Given the description of an element on the screen output the (x, y) to click on. 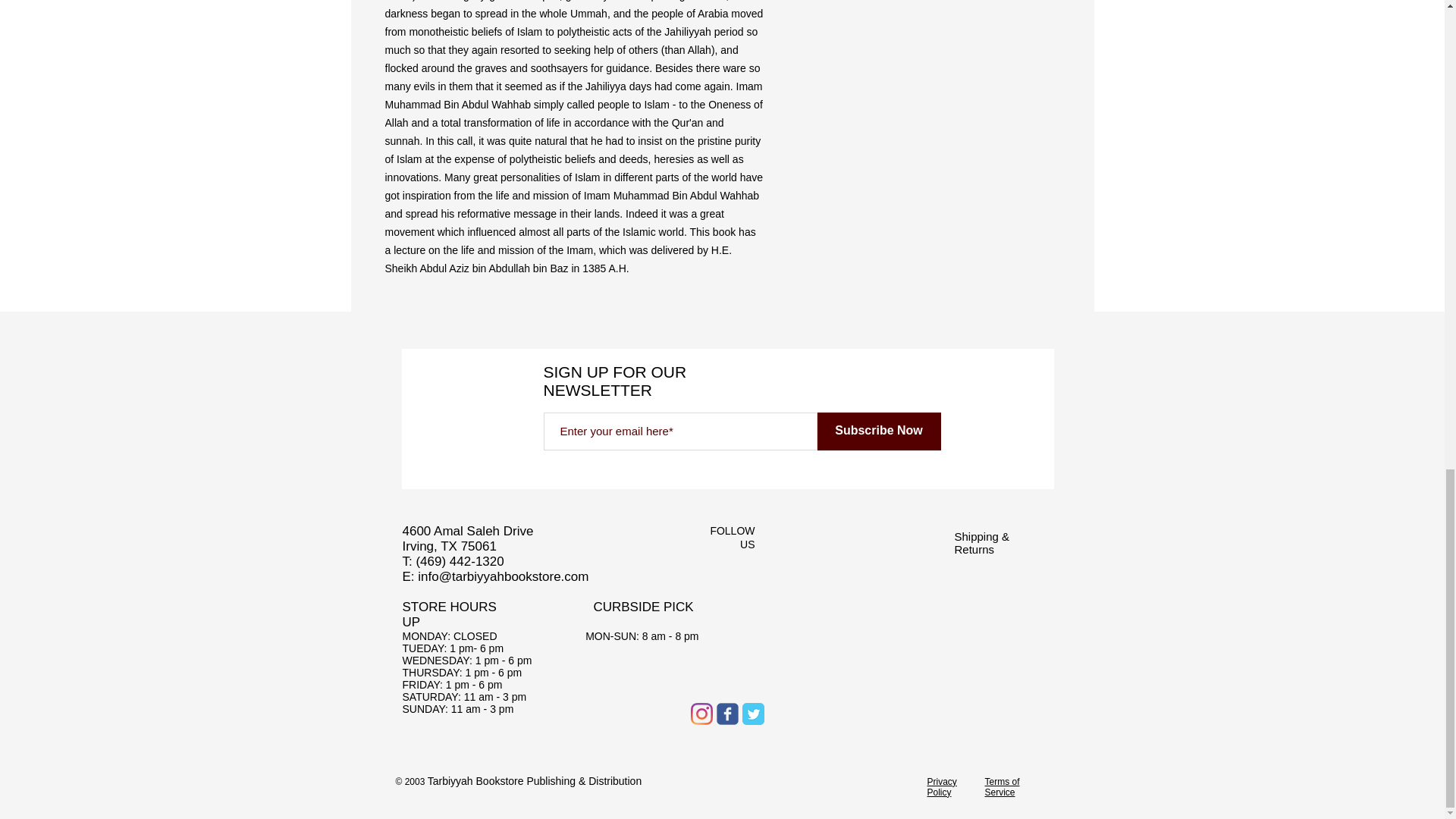
Terms of Service (1001, 786)
Privacy Policy (941, 786)
Subscribe Now (878, 431)
